Given the description of an element on the screen output the (x, y) to click on. 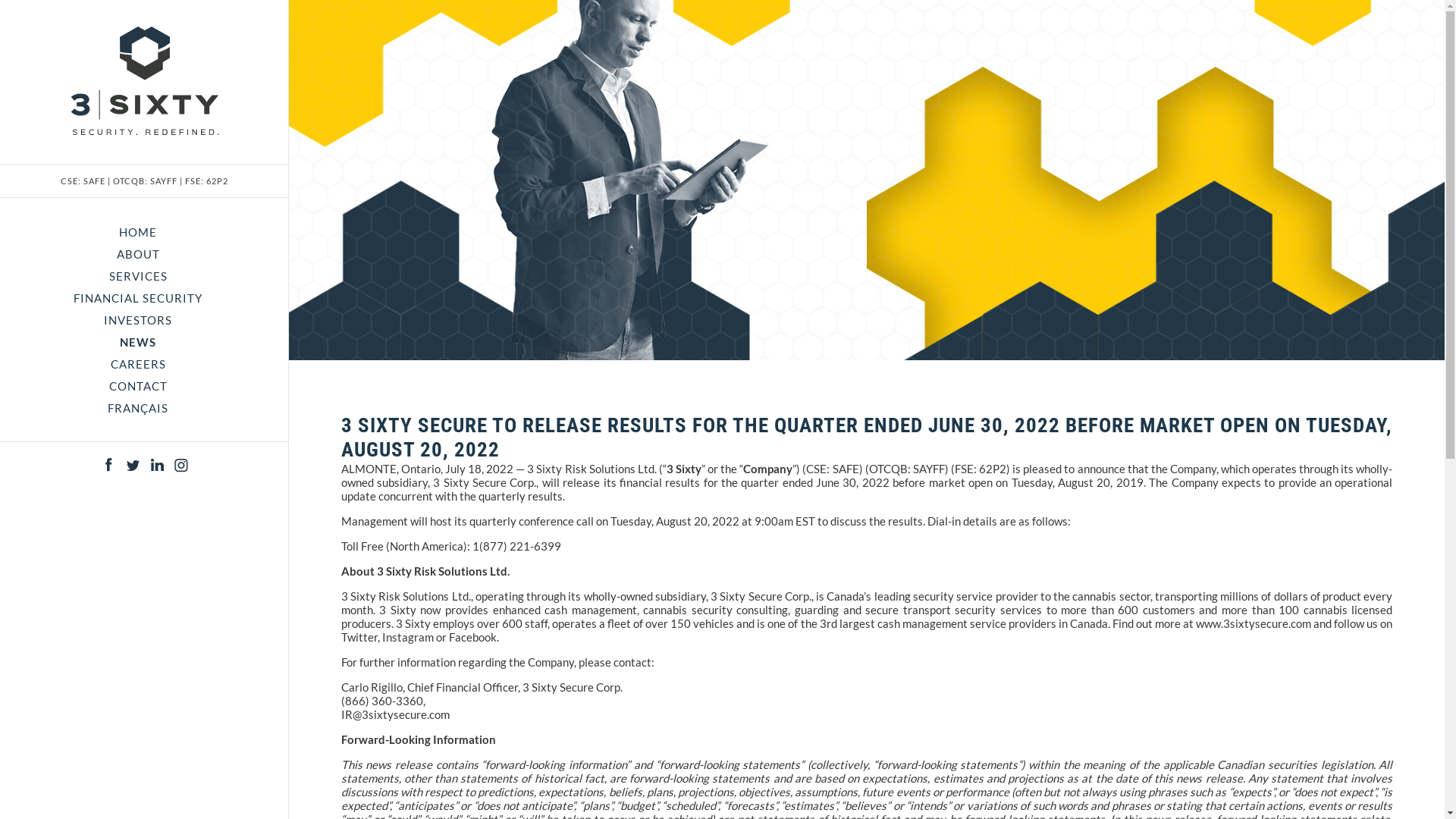
CAREERS Element type: text (137, 363)
CONTACT Element type: text (137, 385)
HOME Element type: text (137, 231)
NEWS Element type: text (137, 341)
INVESTORS Element type: text (137, 319)
SERVICES Element type: text (137, 275)
ABOUT Element type: text (137, 253)
FINANCIAL SECURITY Element type: text (137, 297)
